Given the description of an element on the screen output the (x, y) to click on. 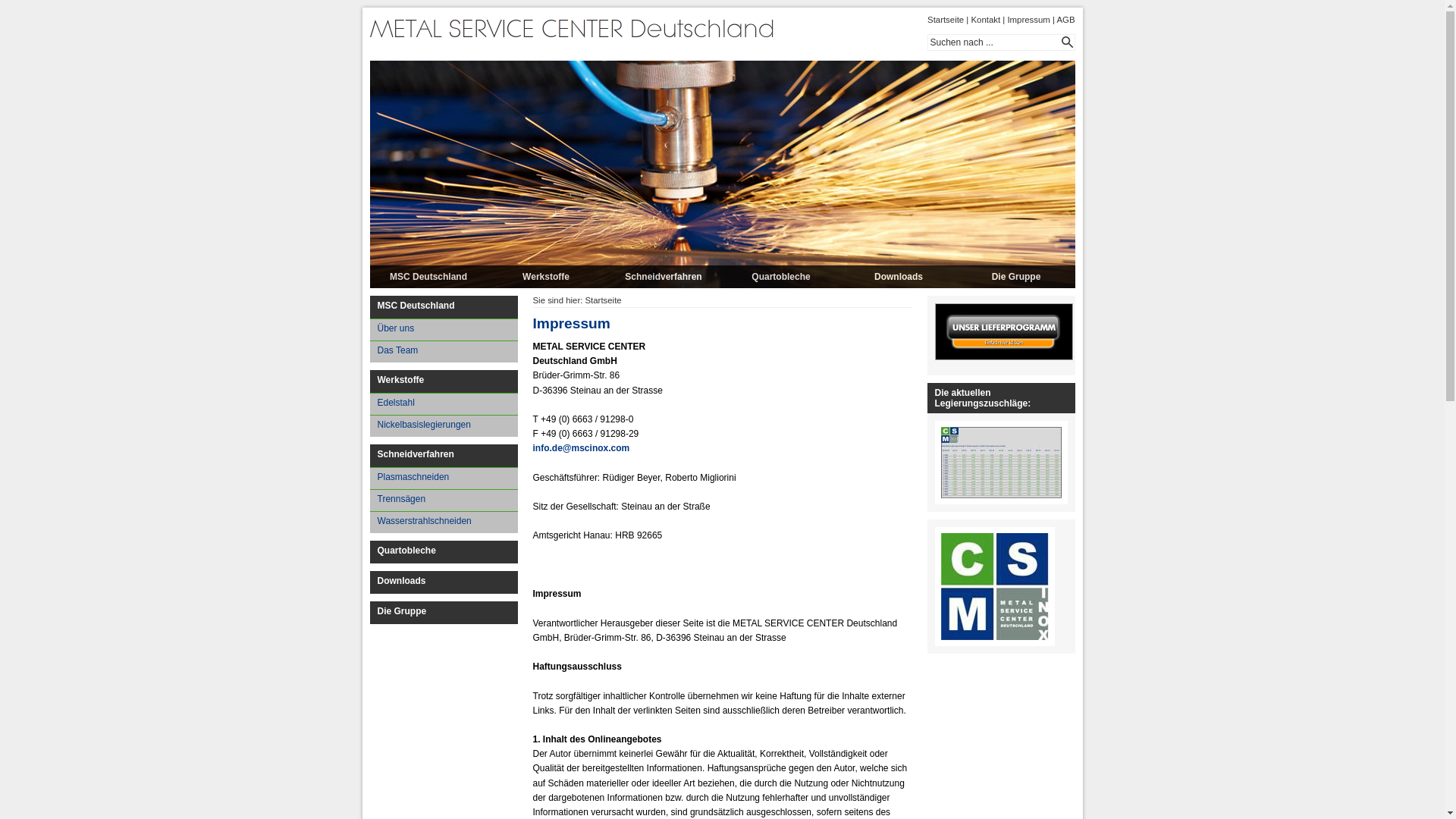
Die Gruppe Element type: text (1015, 276)
Das Team Element type: text (443, 351)
Plasmaschneiden Element type: text (443, 478)
Werkstoffe Element type: text (545, 276)
Quartobleche Element type: text (443, 551)
Werkstoffe Element type: text (443, 381)
Quartobleche Element type: text (780, 276)
MSC Deutschland Element type: text (428, 276)
Wasserstrahlschneiden Element type: text (443, 522)
AGB Element type: text (1065, 19)
Startseite Element type: text (603, 299)
MSC Deutschland Element type: text (443, 306)
Startseite Element type: text (945, 19)
Downloads Element type: text (898, 276)
Edelstahl Element type: text (443, 403)
Schneidverfahren Element type: text (443, 455)
Schneidverfahren Element type: text (663, 276)
Kontakt Element type: text (985, 19)
Die Gruppe Element type: text (443, 612)
Downloads Element type: text (443, 582)
Impressum Element type: text (1028, 19)
Nickelbasislegierungen Element type: text (443, 425)
info.de@mscinox.com Element type: text (580, 447)
